Given the description of an element on the screen output the (x, y) to click on. 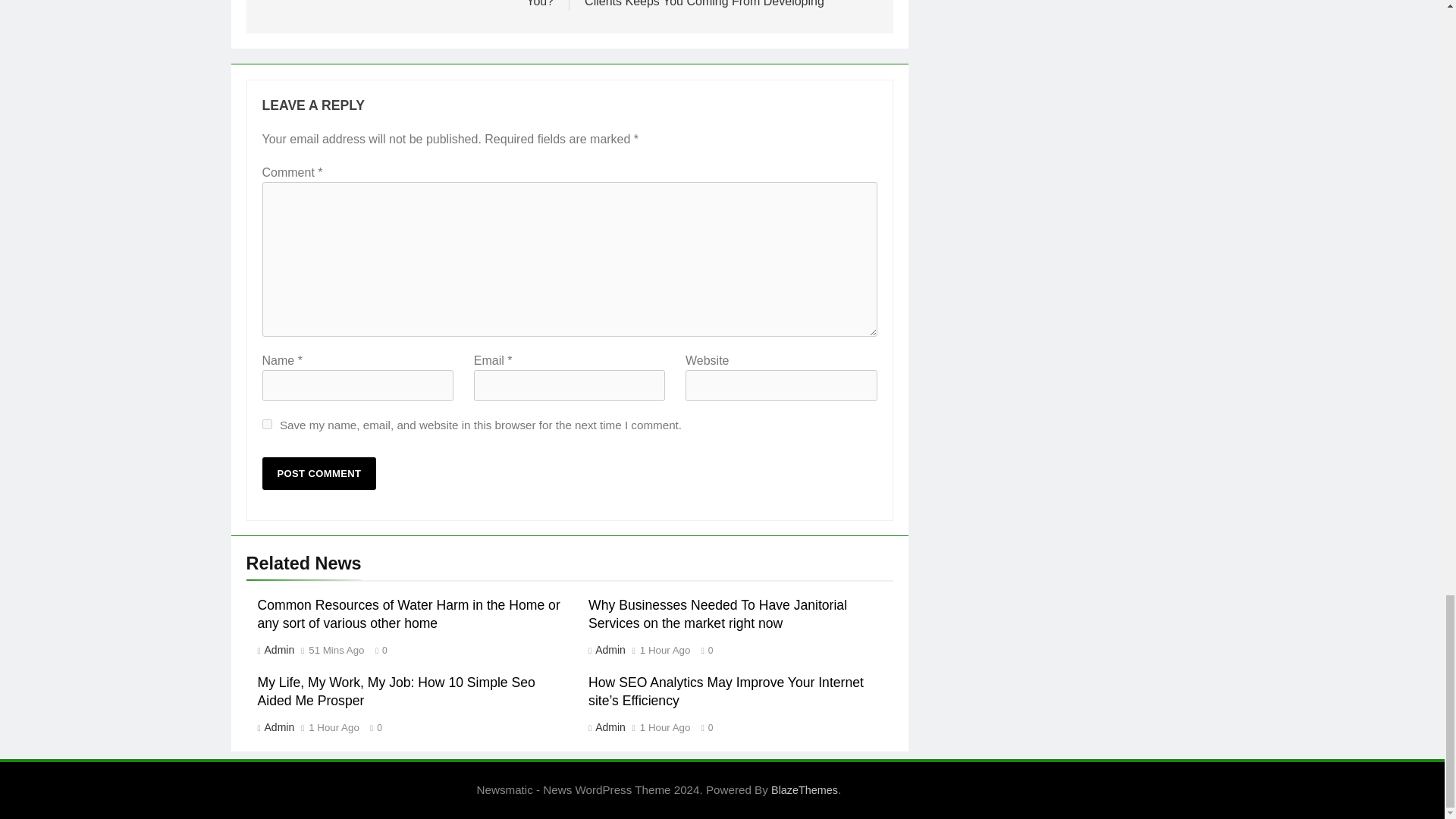
Post Comment (319, 473)
yes (267, 424)
